Given the description of an element on the screen output the (x, y) to click on. 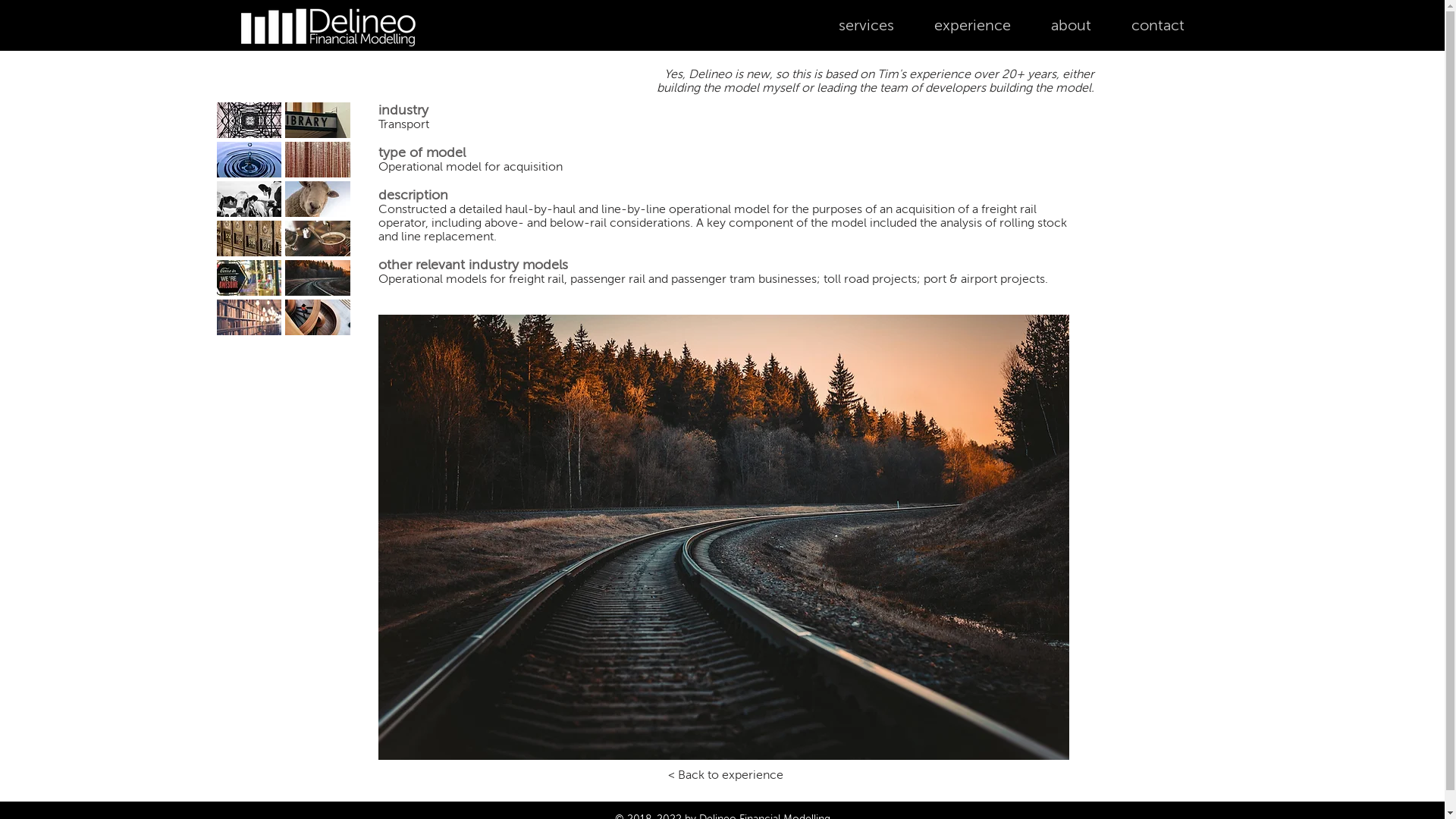
experience Element type: text (972, 25)
< Back to experience Element type: text (724, 774)
about Element type: text (1071, 25)
services Element type: text (865, 25)
contact Element type: text (1157, 25)
